Given the description of an element on the screen output the (x, y) to click on. 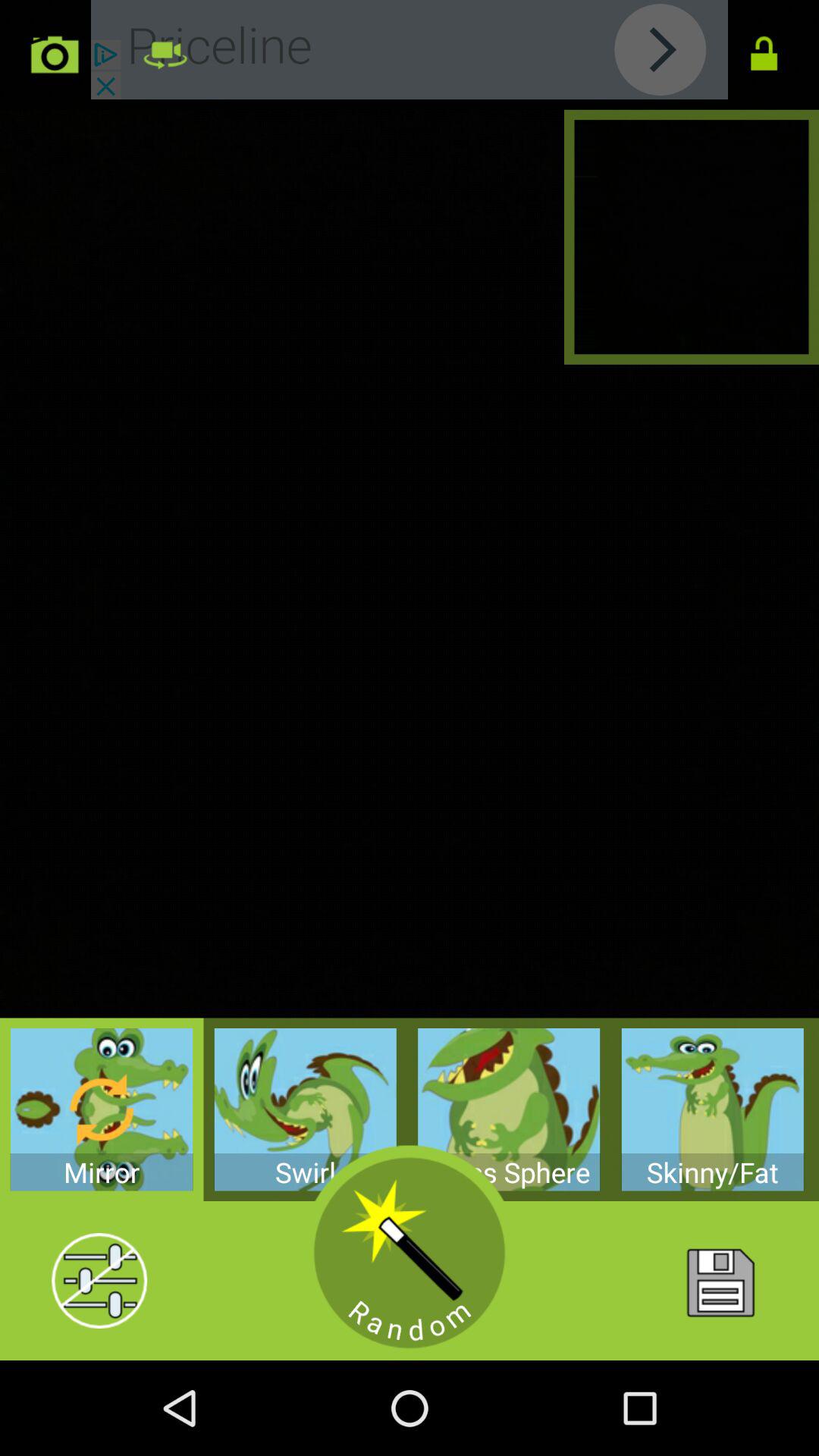
toggle random character generation (409, 1252)
